Given the description of an element on the screen output the (x, y) to click on. 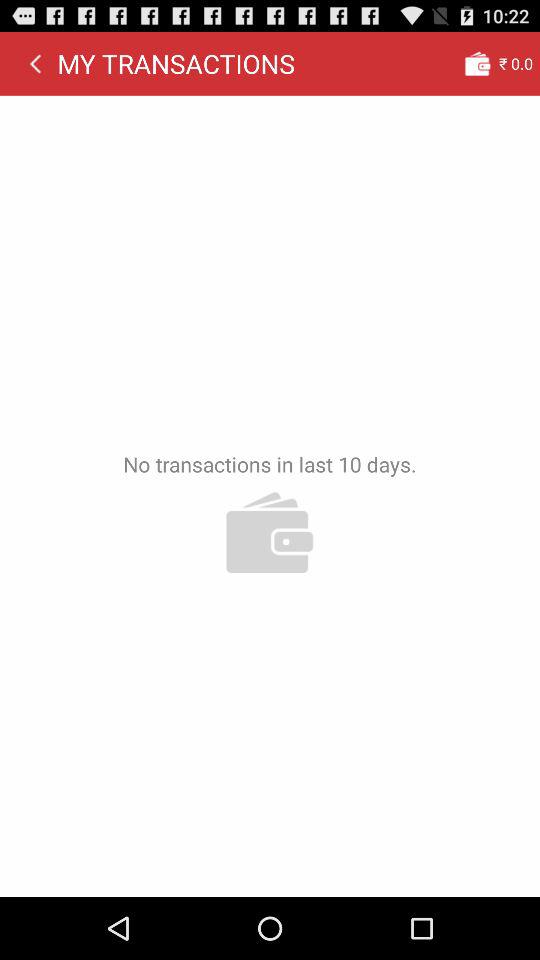
wallet (477, 63)
